Given the description of an element on the screen output the (x, y) to click on. 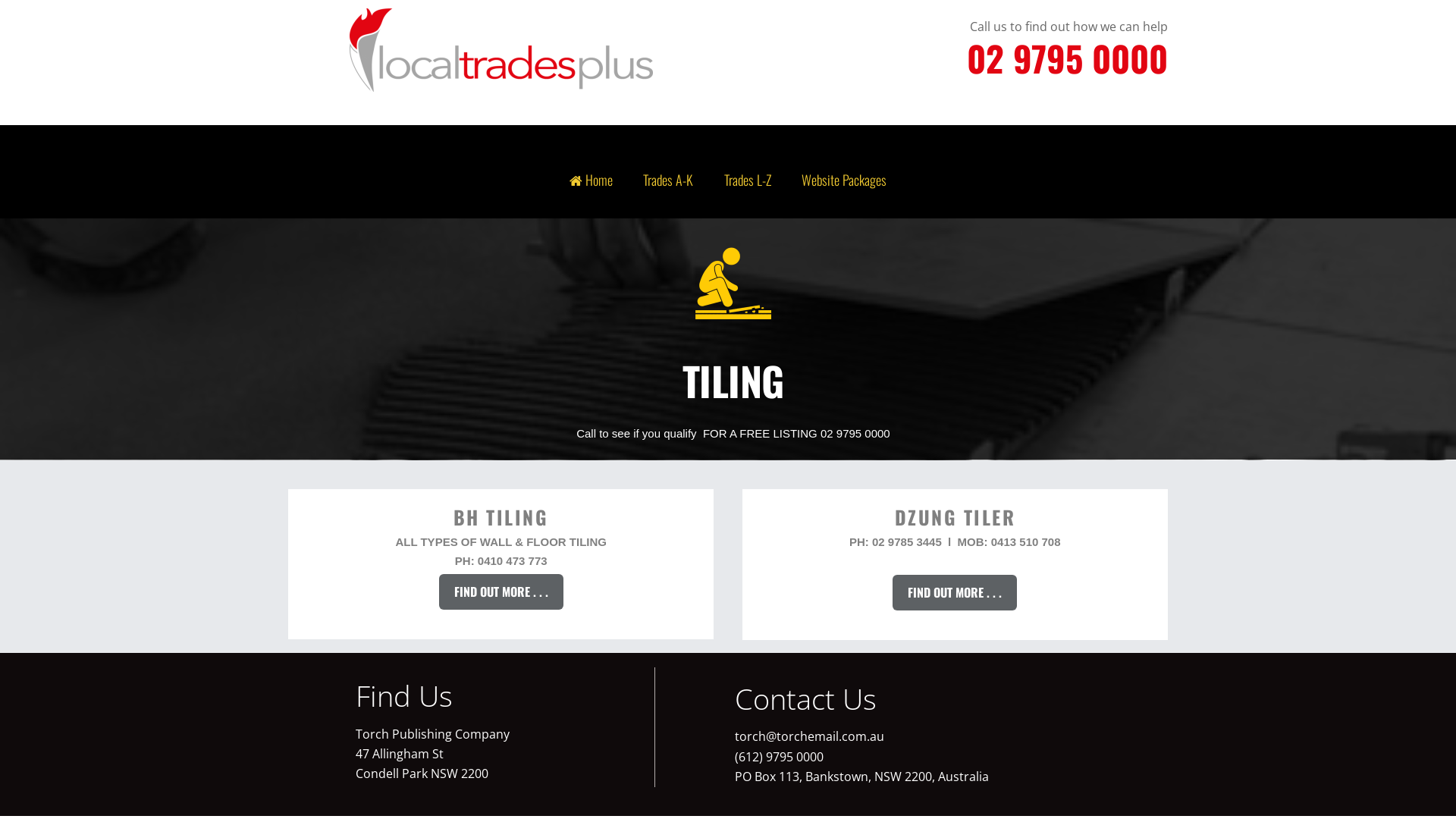
Website Packages Element type: text (843, 180)
0410 473 773 Element type: text (512, 561)
Trades A-K Element type: text (668, 180)
Home Element type: text (590, 180)
02 9785 3445 Element type: text (906, 542)
torch@torchemail.com.au Element type: text (809, 736)
Trades L-Z Element type: text (746, 180)
0413 510 708 Element type: text (1025, 542)
(612) 9795 0000 Element type: text (778, 756)
FIND OUT MORE . . . Element type: text (954, 591)
TILING Element type: hover (733, 285)
FIND OUT MORE . . . Element type: text (501, 591)
